Given the description of an element on the screen output the (x, y) to click on. 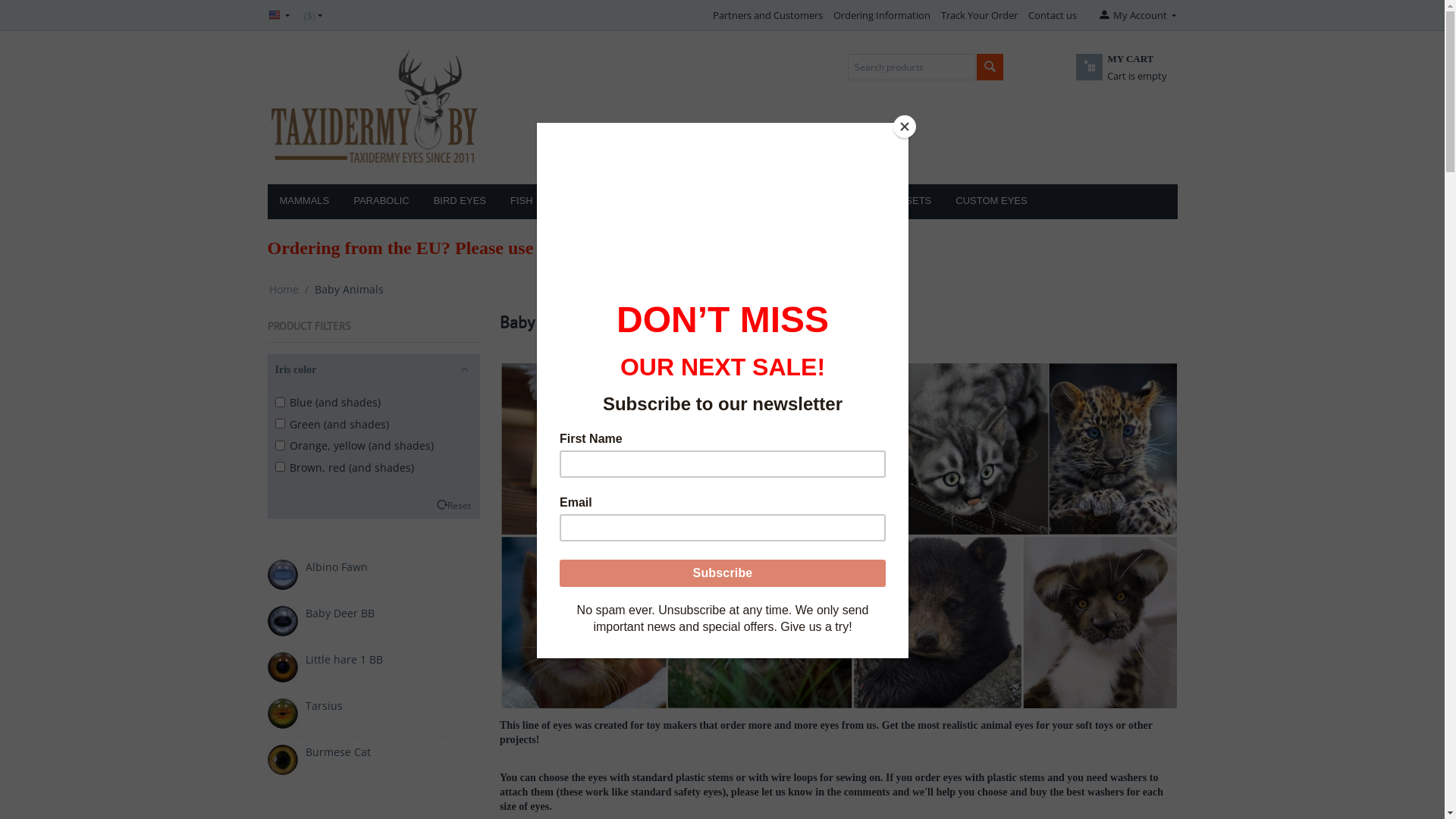
Search Element type: hover (989, 66)
MY CART
Cart is empty Element type: text (1134, 75)
($) Element type: text (313, 15)
Track Your Order Element type: text (979, 14)
PARABOLIC Element type: text (380, 201)
Albino Fawn Element type: text (335, 566)
FISH Element type: text (521, 201)
Partners and Customers Element type: text (767, 14)
TONGUES AND JAWSETS Element type: text (870, 201)
Contact us Element type: text (1052, 14)
BABY ANIMALS Element type: text (750, 201)
Ordering Information Element type: text (881, 14)
Search products Element type: hover (910, 66)
Tarsius Element type: text (323, 705)
REPTILES AND AMPHIBIANS Element type: text (623, 201)
My Account Element type: text (1136, 14)
Home Element type: text (282, 289)
BIRD EYES Element type: text (459, 201)
CUSTOM EYES Element type: text (990, 201)
https://eyes4taxidermy.com Element type: text (765, 246)
Baby Deer BB Element type: text (338, 612)
MAMMALS Element type: text (303, 201)
Little hare 1 BB Element type: text (343, 659)
Reset Element type: text (458, 504)
Burmese Cat Element type: text (337, 751)
